Given the description of an element on the screen output the (x, y) to click on. 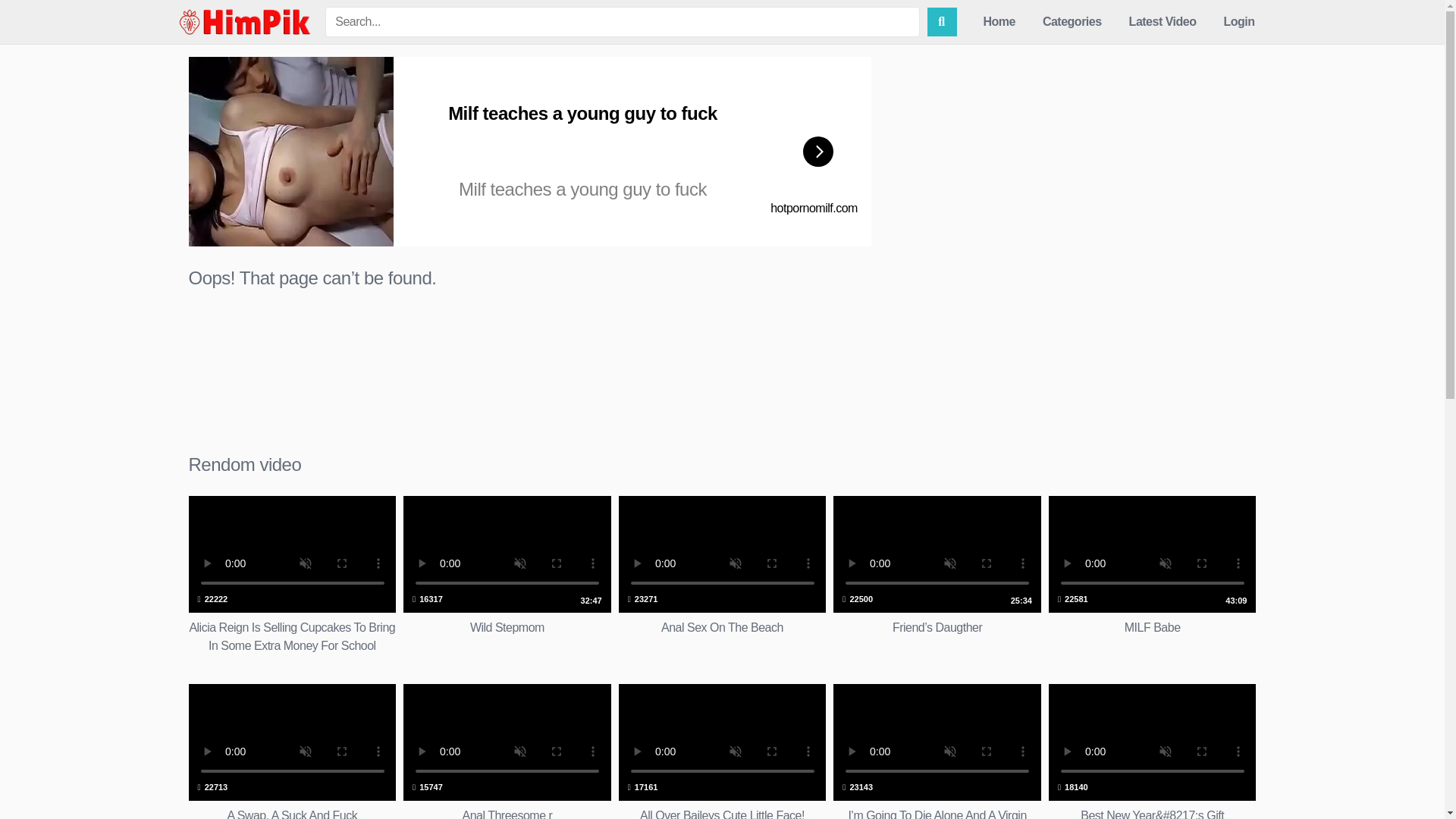
Anal Threesome r (507, 751)
Categories (1072, 22)
A Swap, A Suck And Fuck (291, 751)
HimPik (244, 21)
MILF Babe (291, 751)
Login (1152, 575)
Anal Sex On The Beach (722, 575)
Latest Video (1238, 22)
Home (722, 575)
